Given the description of an element on the screen output the (x, y) to click on. 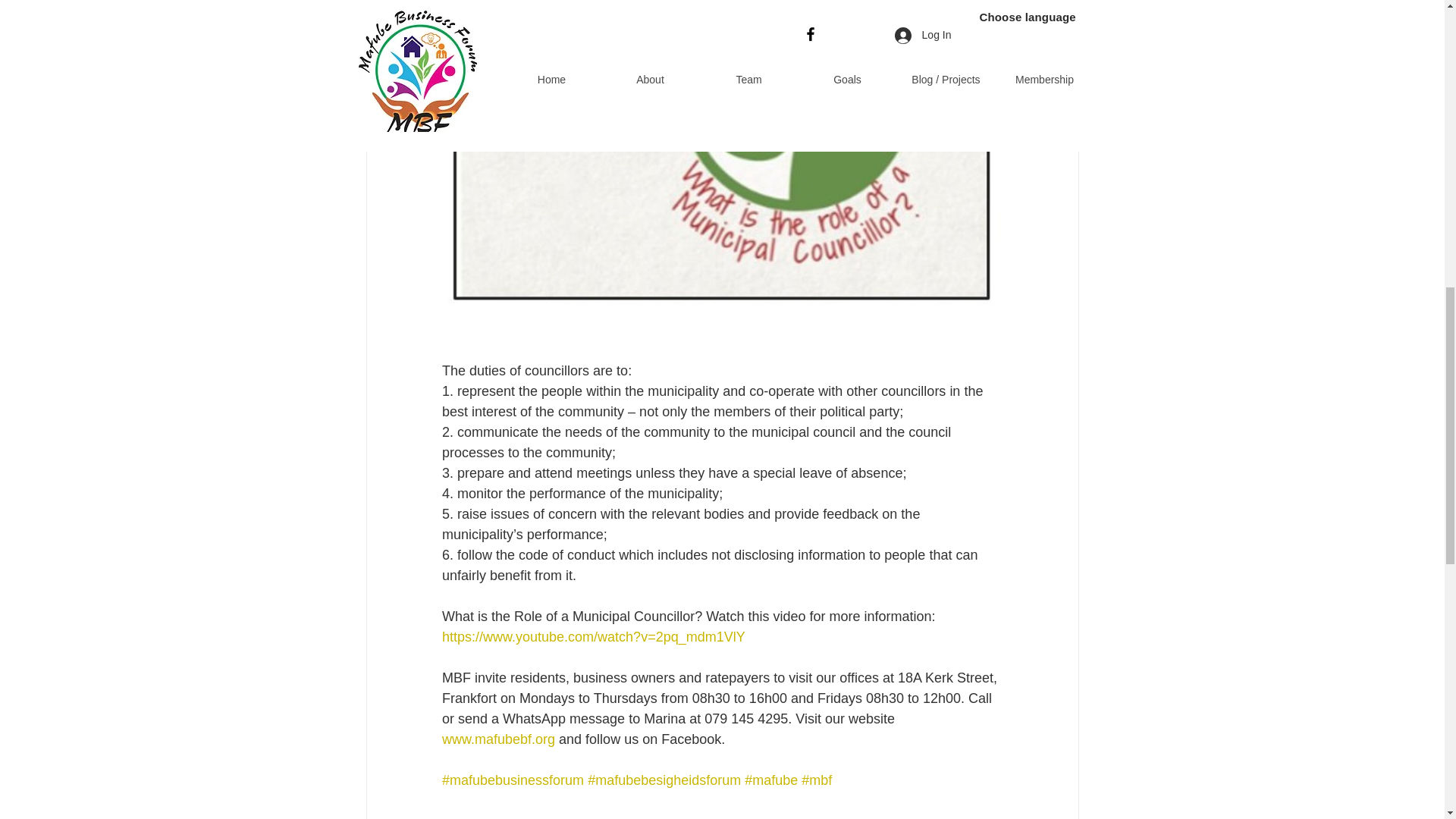
www.mafubebf.org (497, 739)
